Given the description of an element on the screen output the (x, y) to click on. 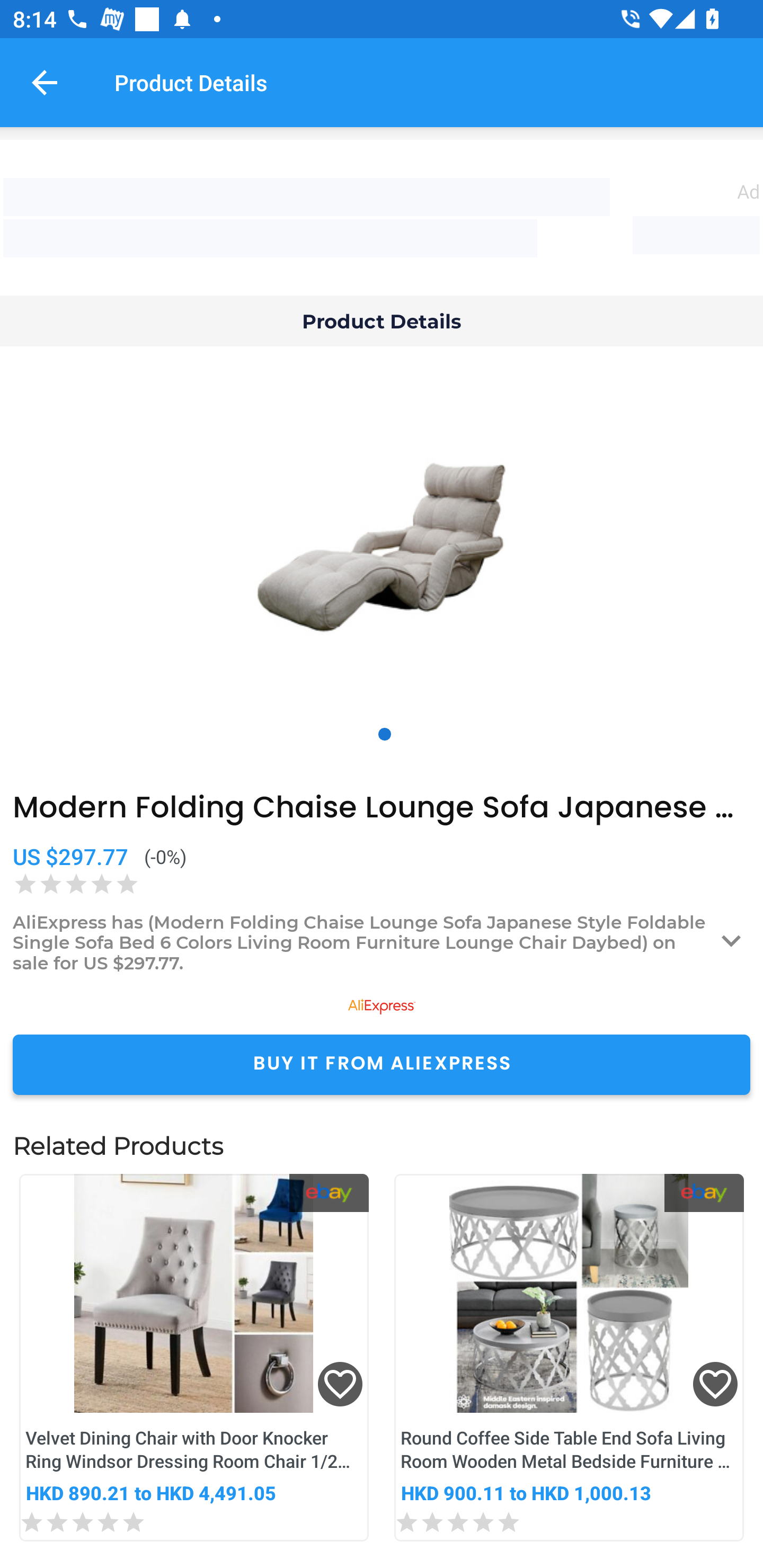
Navigate up (44, 82)
BUY IT FROM ALIEXPRESS (381, 1064)
